Given the description of an element on the screen output the (x, y) to click on. 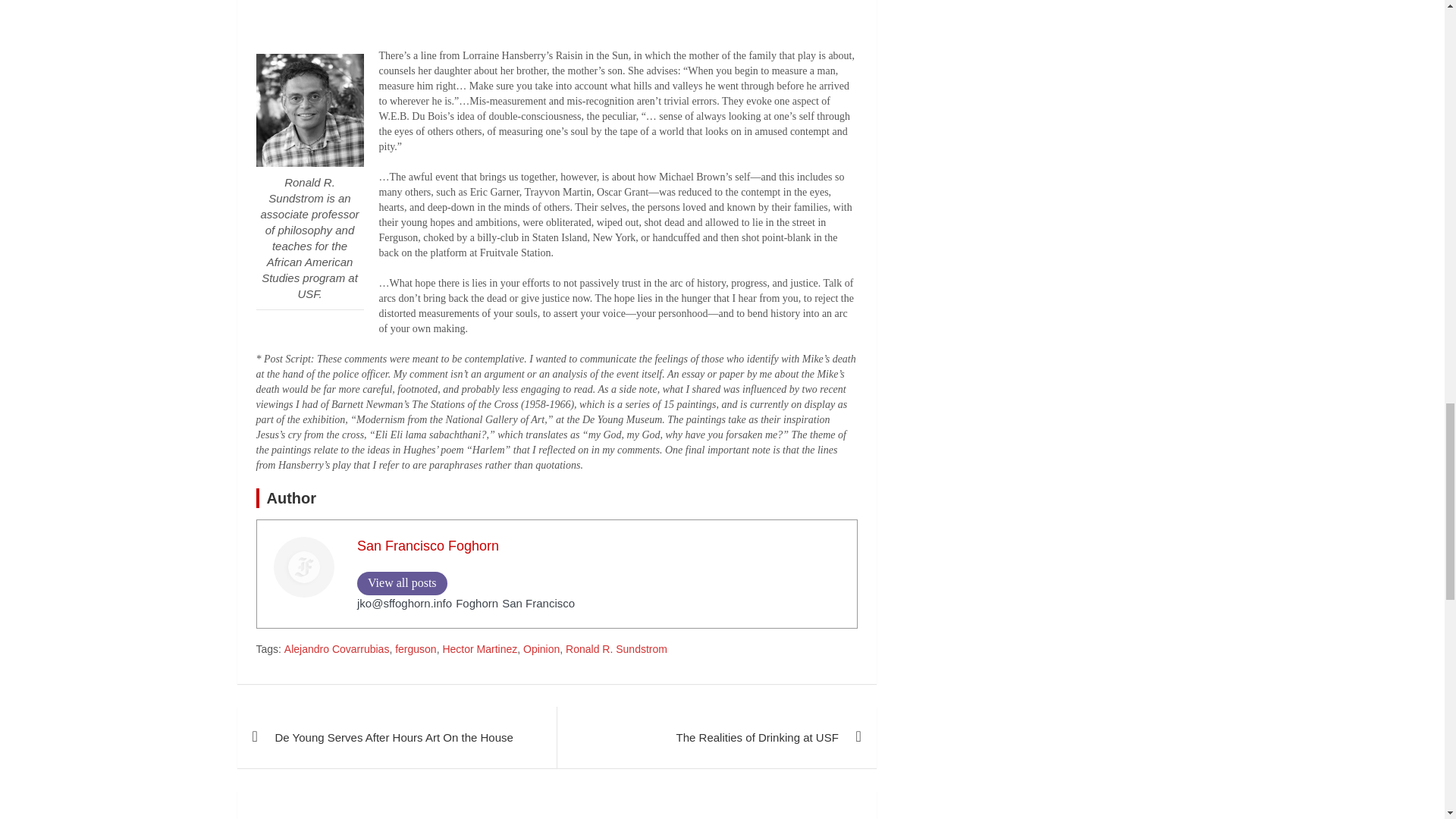
Opinion (540, 649)
San Francisco Foghorn (427, 545)
De Young Serves After Hours Art On the House (395, 737)
Hector Martinez (479, 649)
View all posts (401, 583)
ferguson (414, 649)
The Realities of Drinking at USF (716, 737)
View all posts (401, 583)
Ronald R. Sundstrom (616, 649)
San Francisco Foghorn (427, 545)
